Given the description of an element on the screen output the (x, y) to click on. 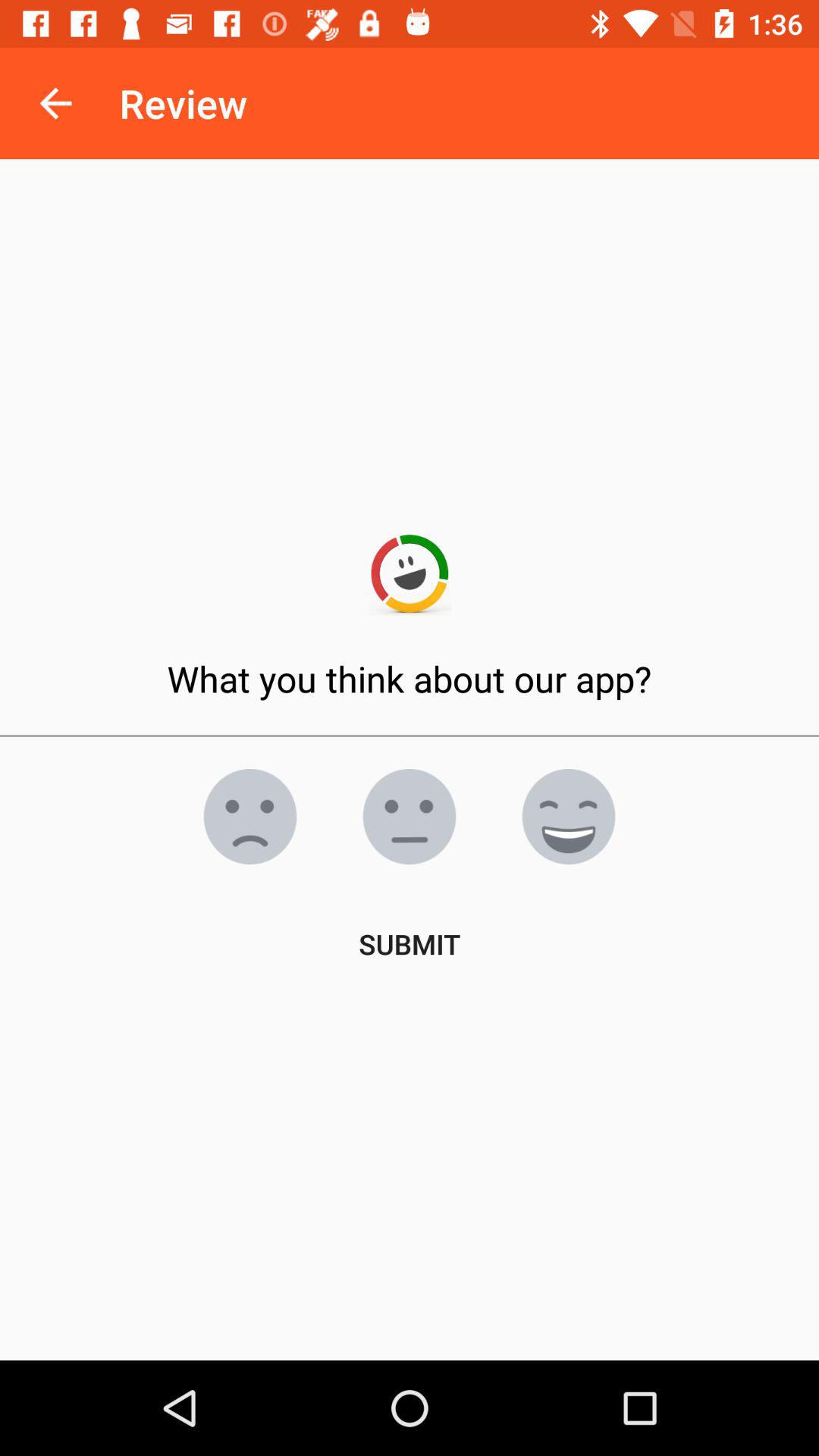
launch the item above submit item (249, 816)
